Given the description of an element on the screen output the (x, y) to click on. 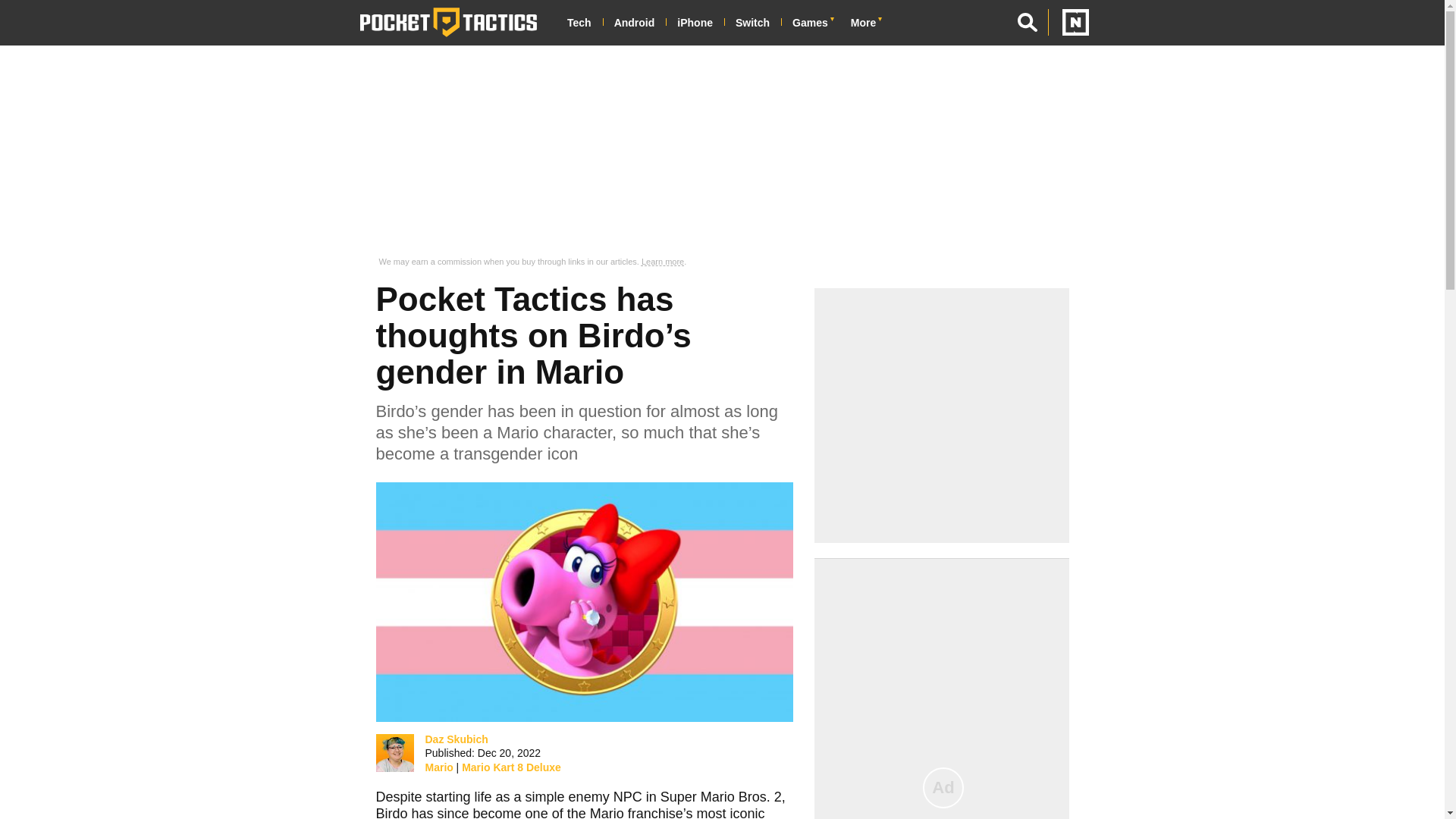
Android (640, 22)
Network N Media (1068, 22)
Learn more (663, 261)
iPhone (700, 22)
Pocket Tactics (448, 22)
Mario (438, 767)
Switch (757, 22)
Daz Skubich (397, 756)
Daz Skubich (456, 739)
Mario Kart 8 Deluxe (510, 767)
